Given the description of an element on the screen output the (x, y) to click on. 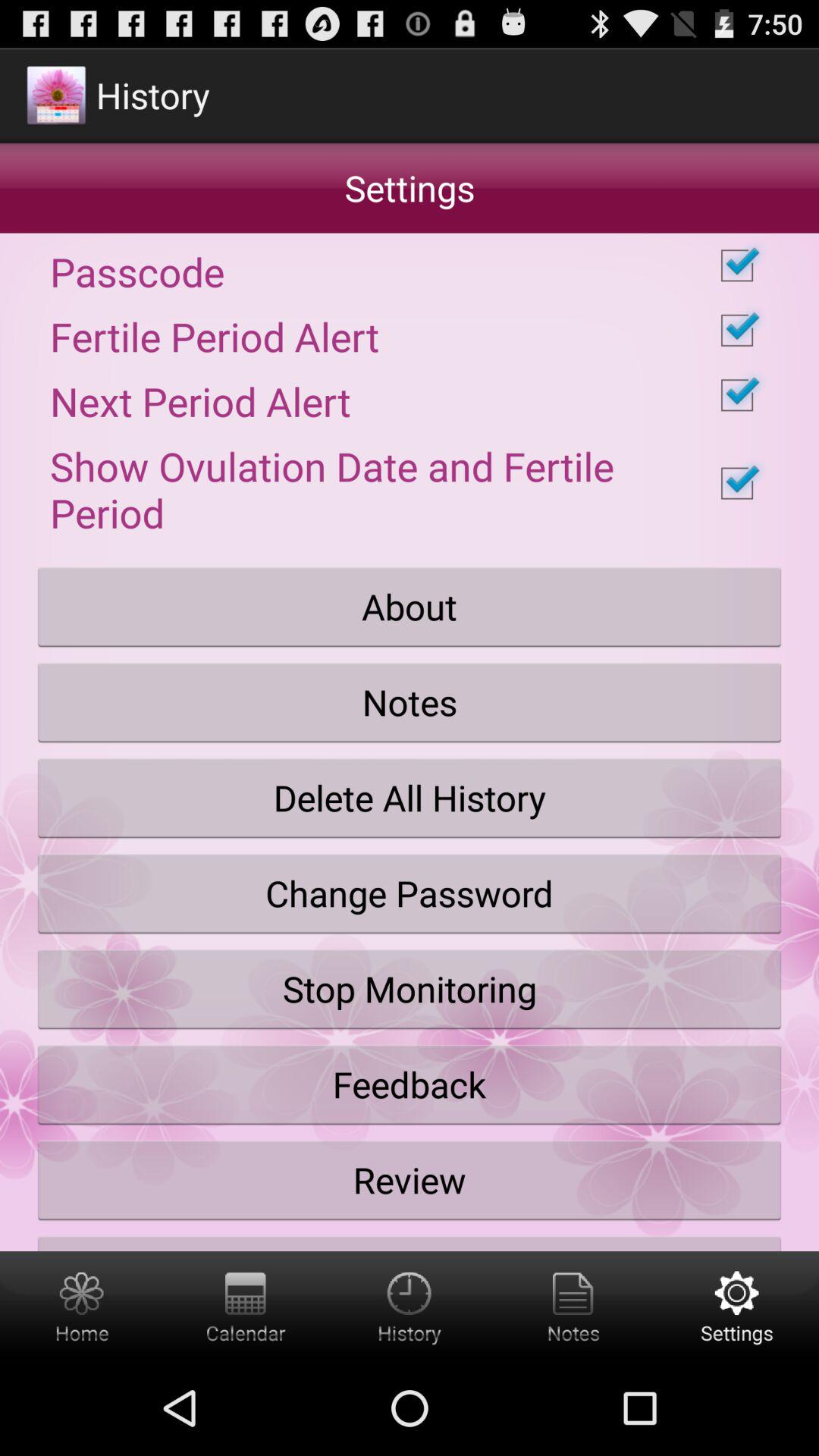
choose the icon below the share with friends (245, 1305)
